Given the description of an element on the screen output the (x, y) to click on. 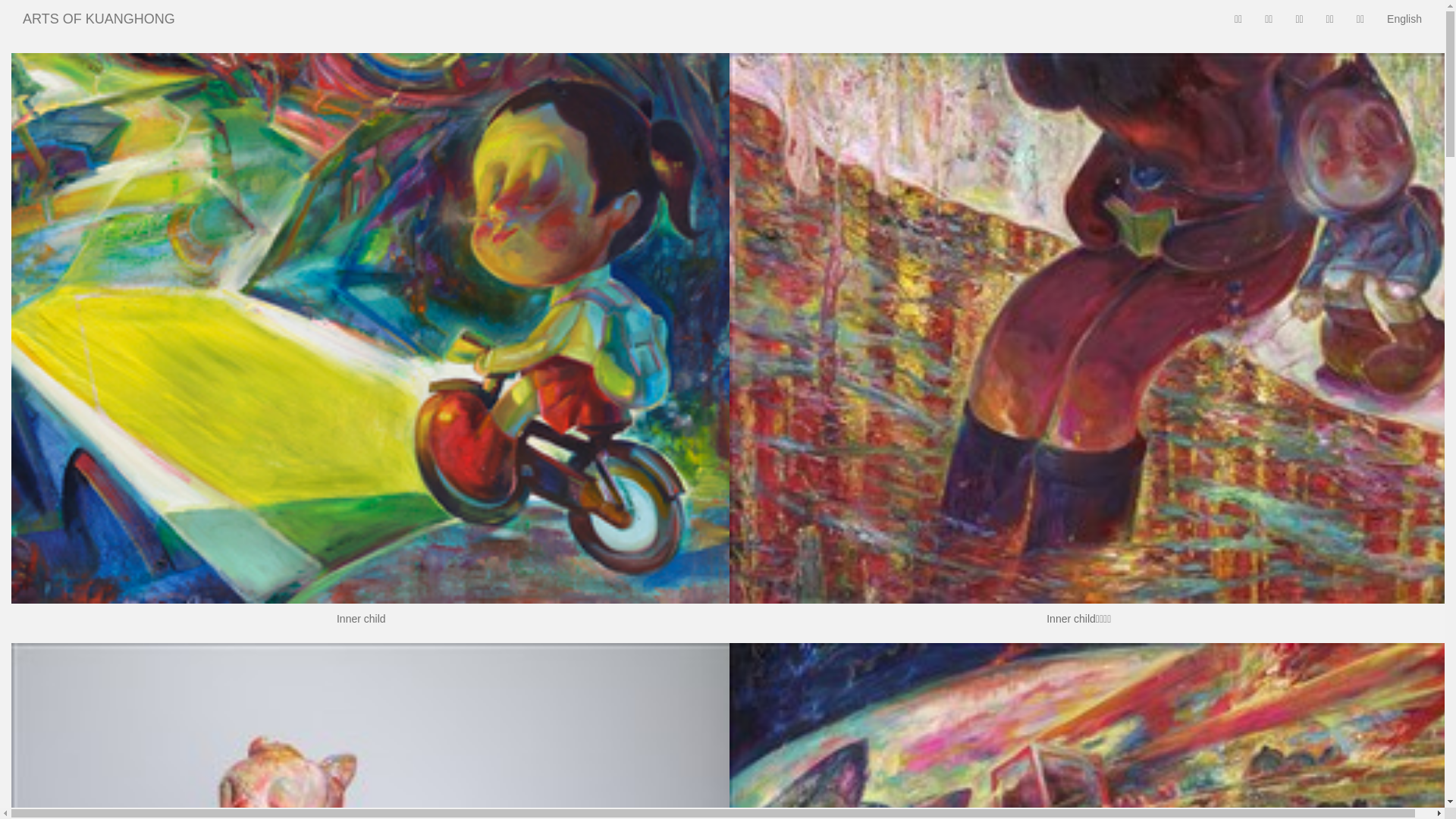
Inner child Element type: hover (378, 327)
English Element type: text (1404, 18)
ARTS OF KUANGHONG Element type: text (98, 18)
